Given the description of an element on the screen output the (x, y) to click on. 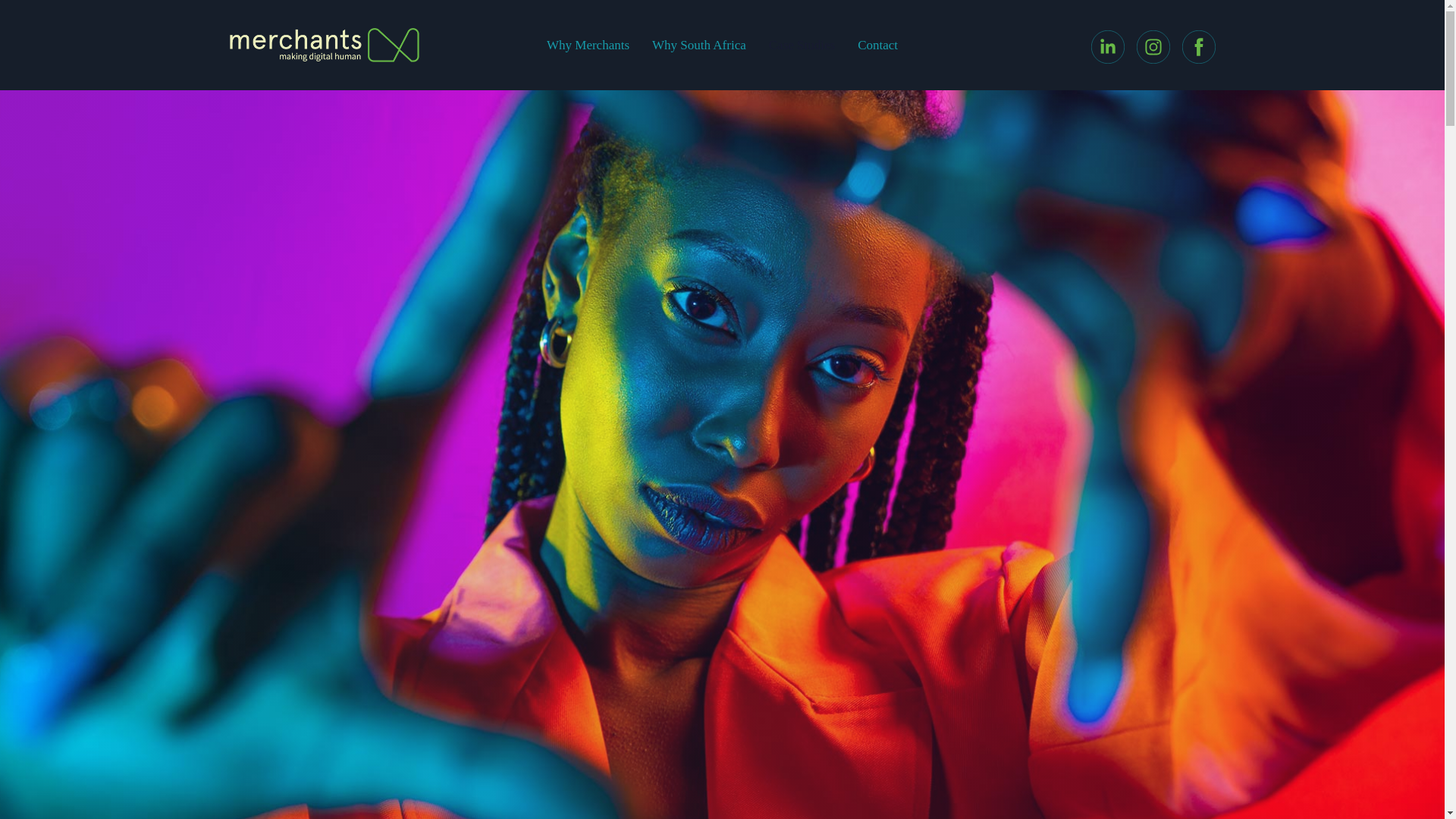
Why Merchants (587, 45)
Case Studies (801, 45)
Why South Africa (698, 45)
